Given the description of an element on the screen output the (x, y) to click on. 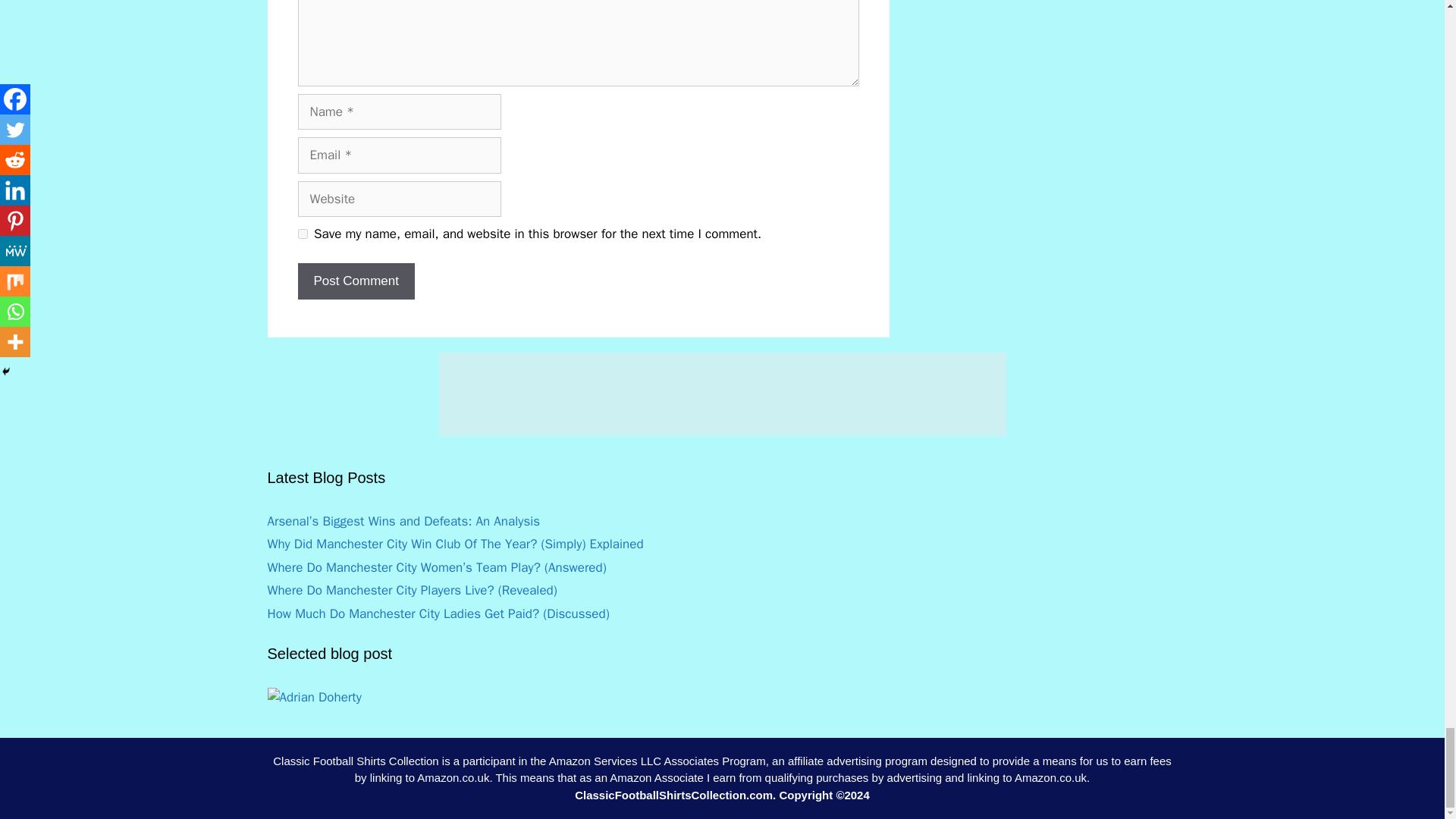
Post Comment (355, 280)
yes (302, 234)
